Given the description of an element on the screen output the (x, y) to click on. 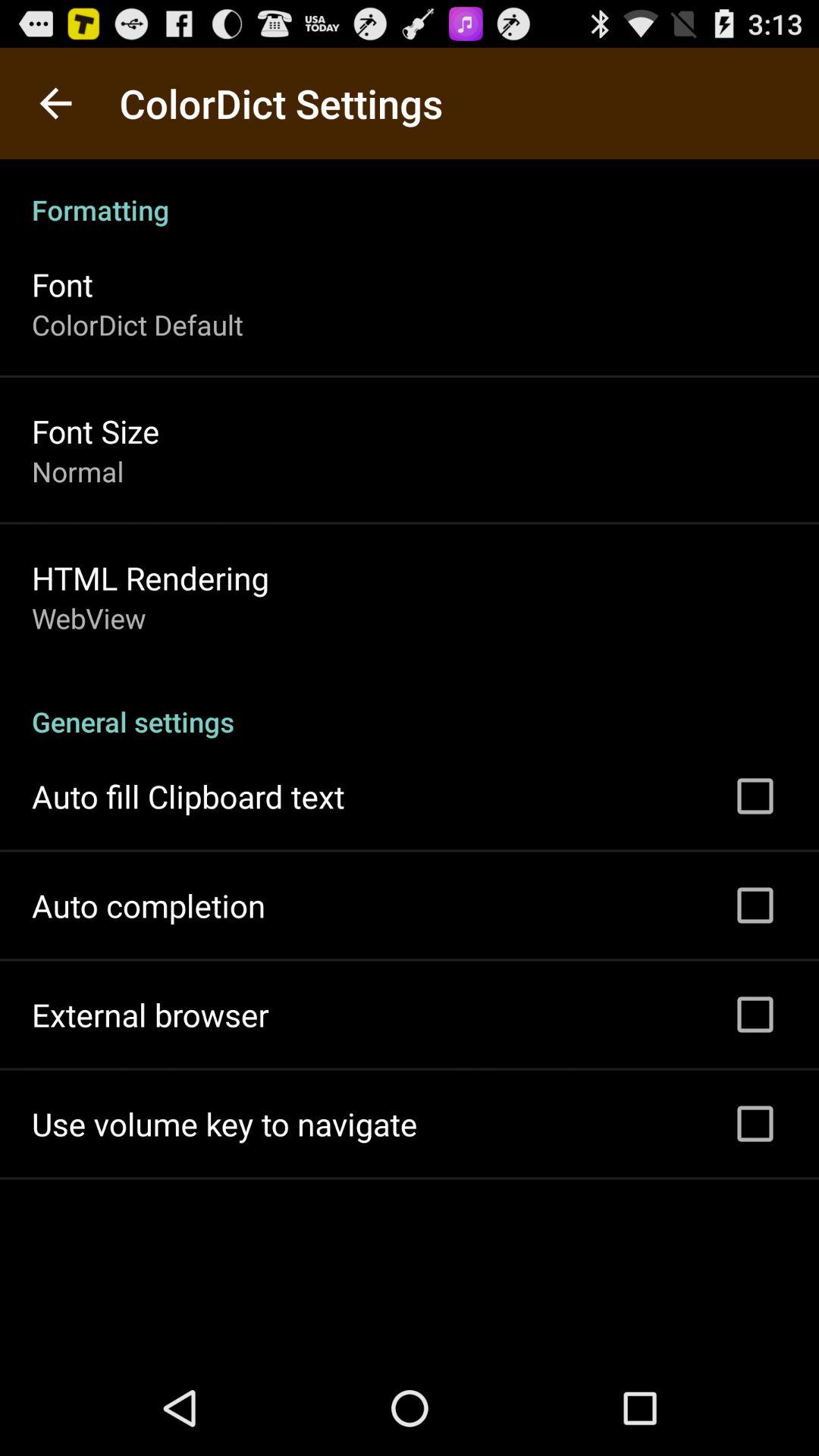
select app next to the colordict settings (55, 103)
